Given the description of an element on the screen output the (x, y) to click on. 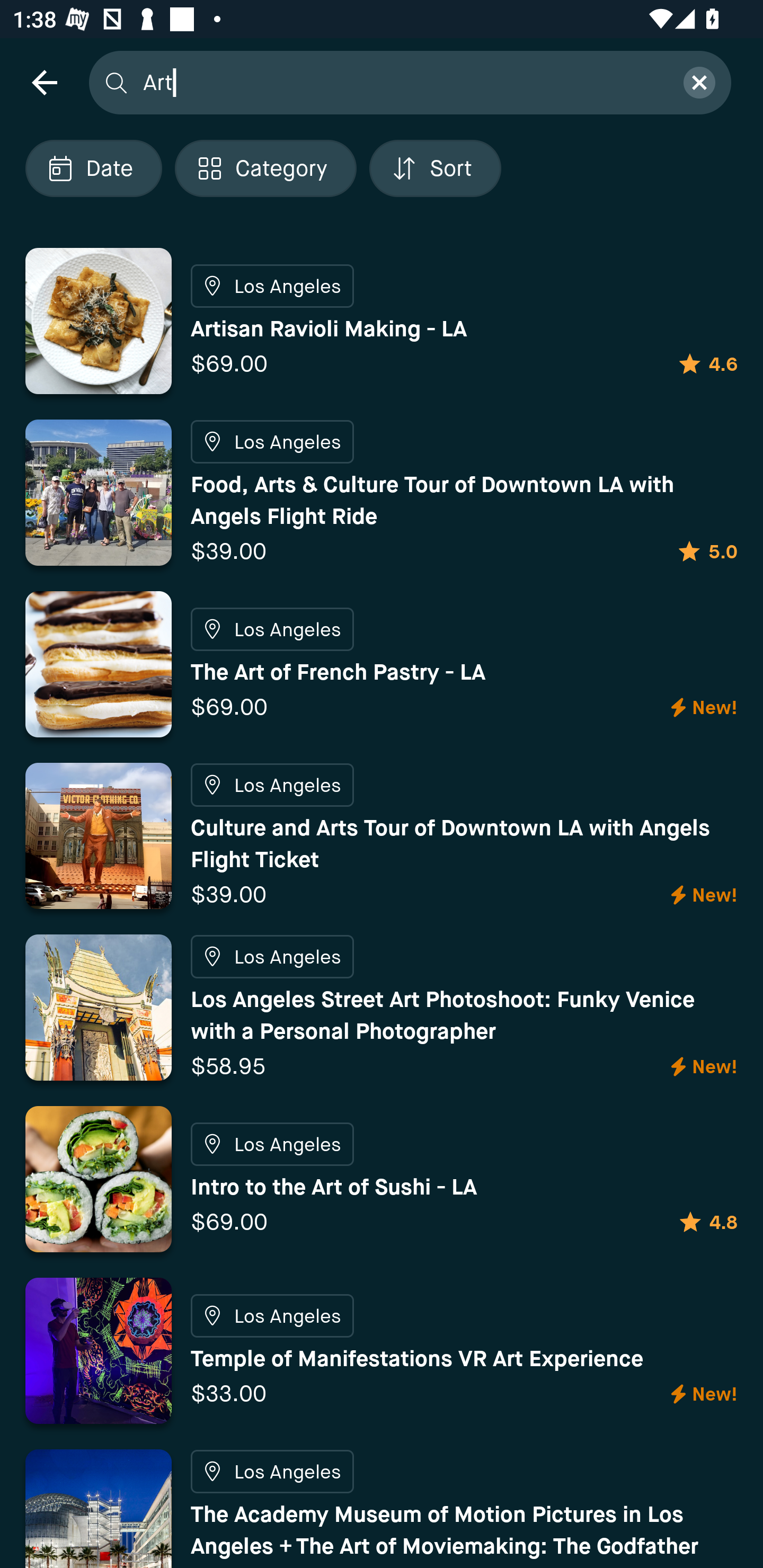
navigation icon (44, 81)
Art (402, 81)
Localized description Date (93, 168)
Localized description Category (265, 168)
Localized description Sort (435, 168)
